Given the description of an element on the screen output the (x, y) to click on. 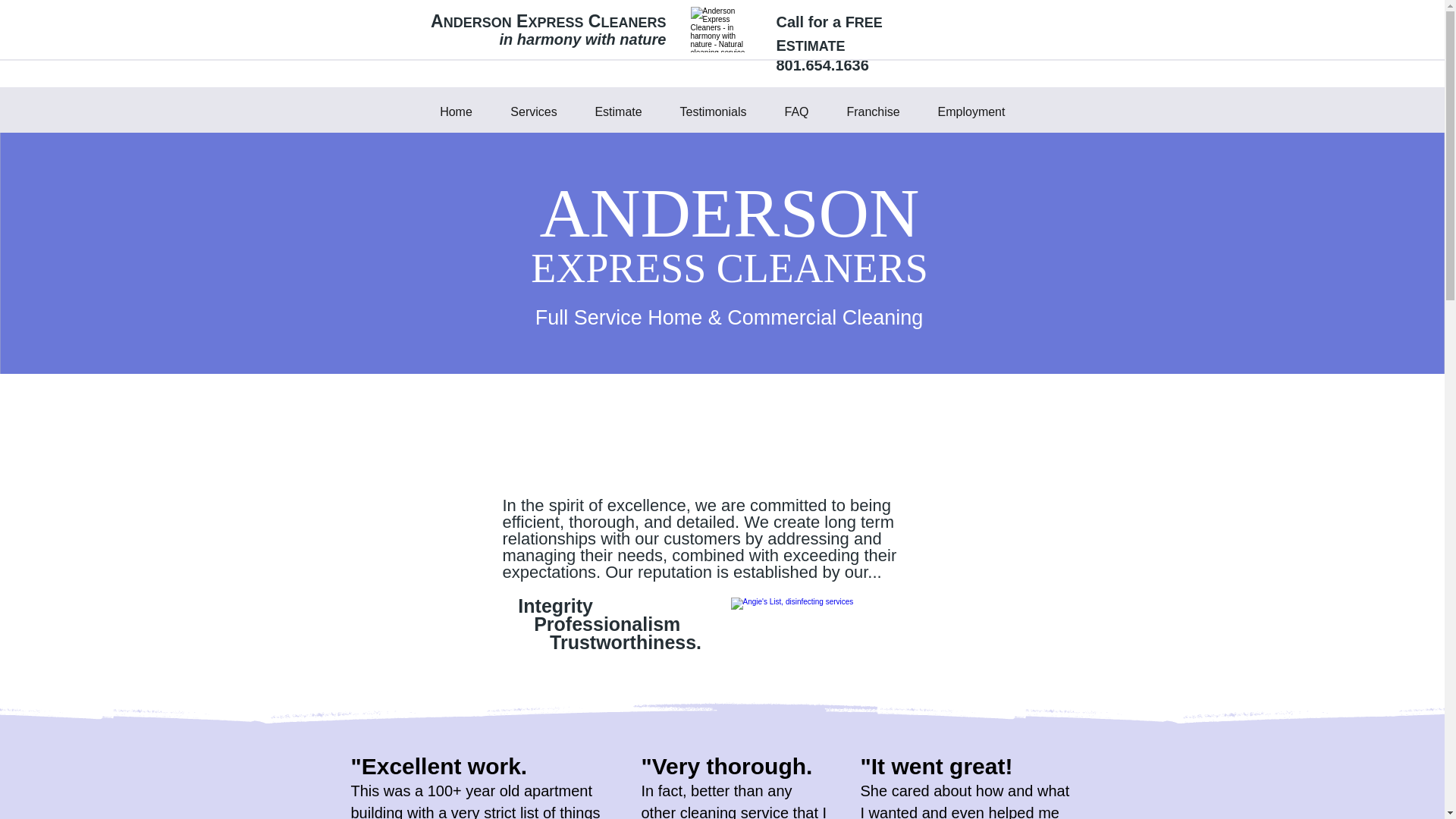
Franchise (873, 111)
Home (456, 111)
Services (533, 111)
Estimate (618, 111)
Employment (971, 111)
Testimonials (713, 111)
FAQ (796, 111)
